Given the description of an element on the screen output the (x, y) to click on. 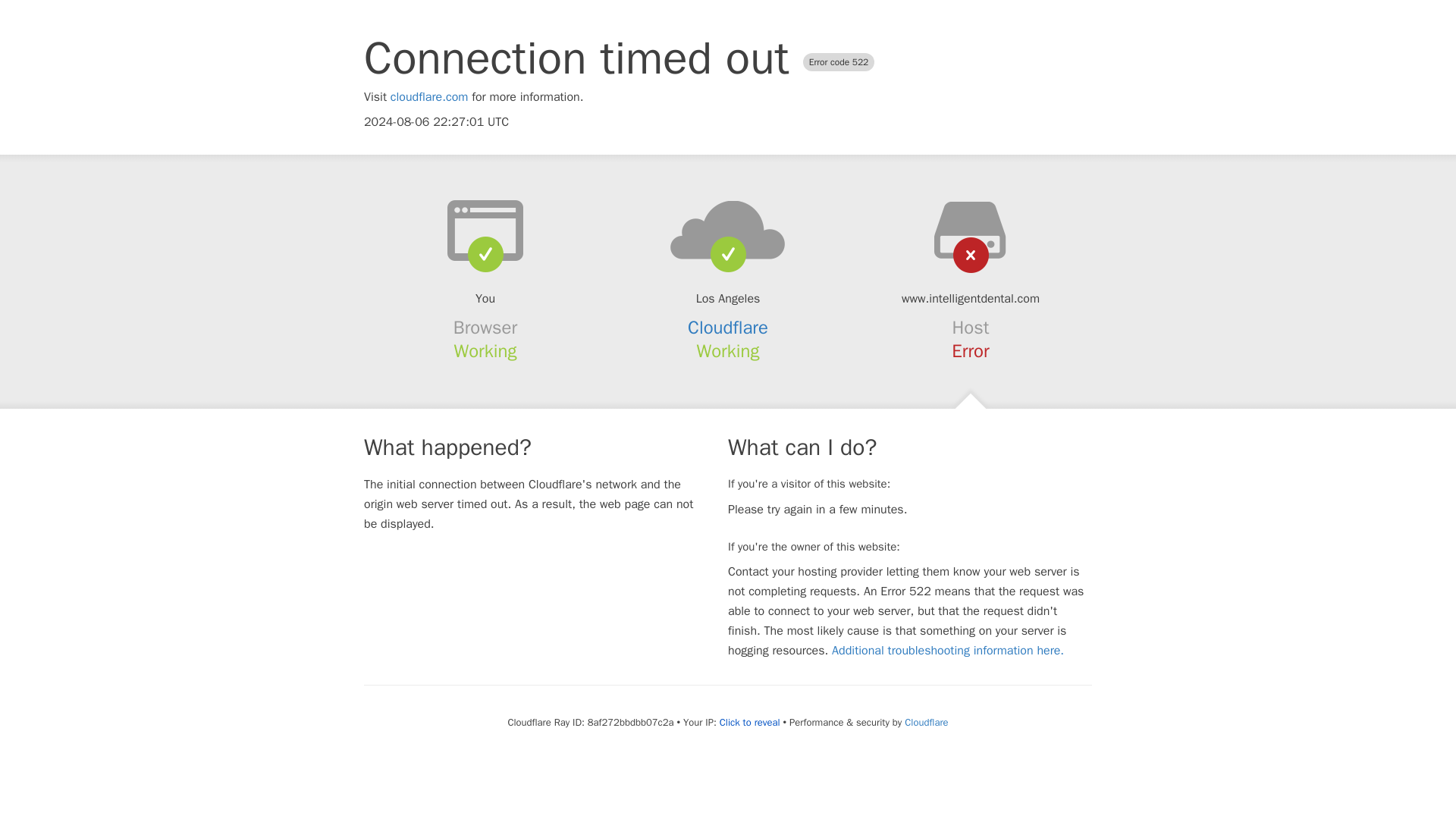
Click to reveal (749, 722)
Additional troubleshooting information here. (947, 650)
Cloudflare (727, 327)
cloudflare.com (429, 96)
Cloudflare (925, 721)
